Given the description of an element on the screen output the (x, y) to click on. 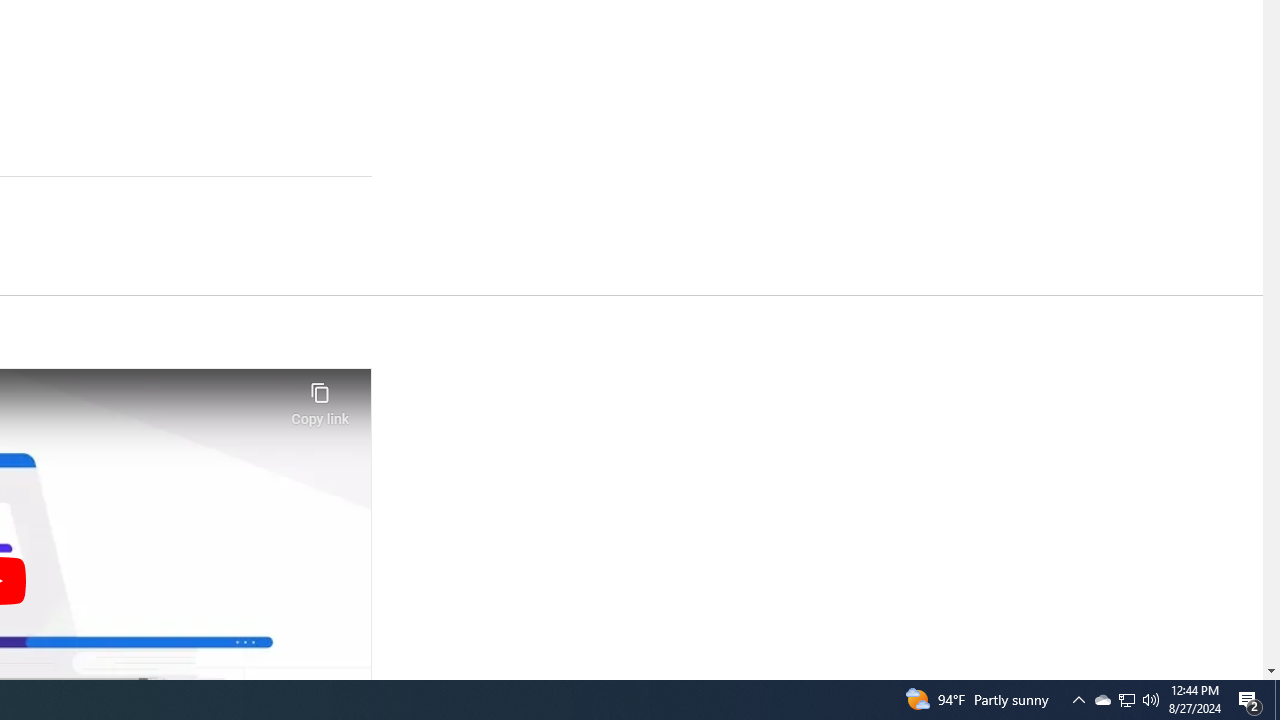
Copy link (319, 398)
